Given the description of an element on the screen output the (x, y) to click on. 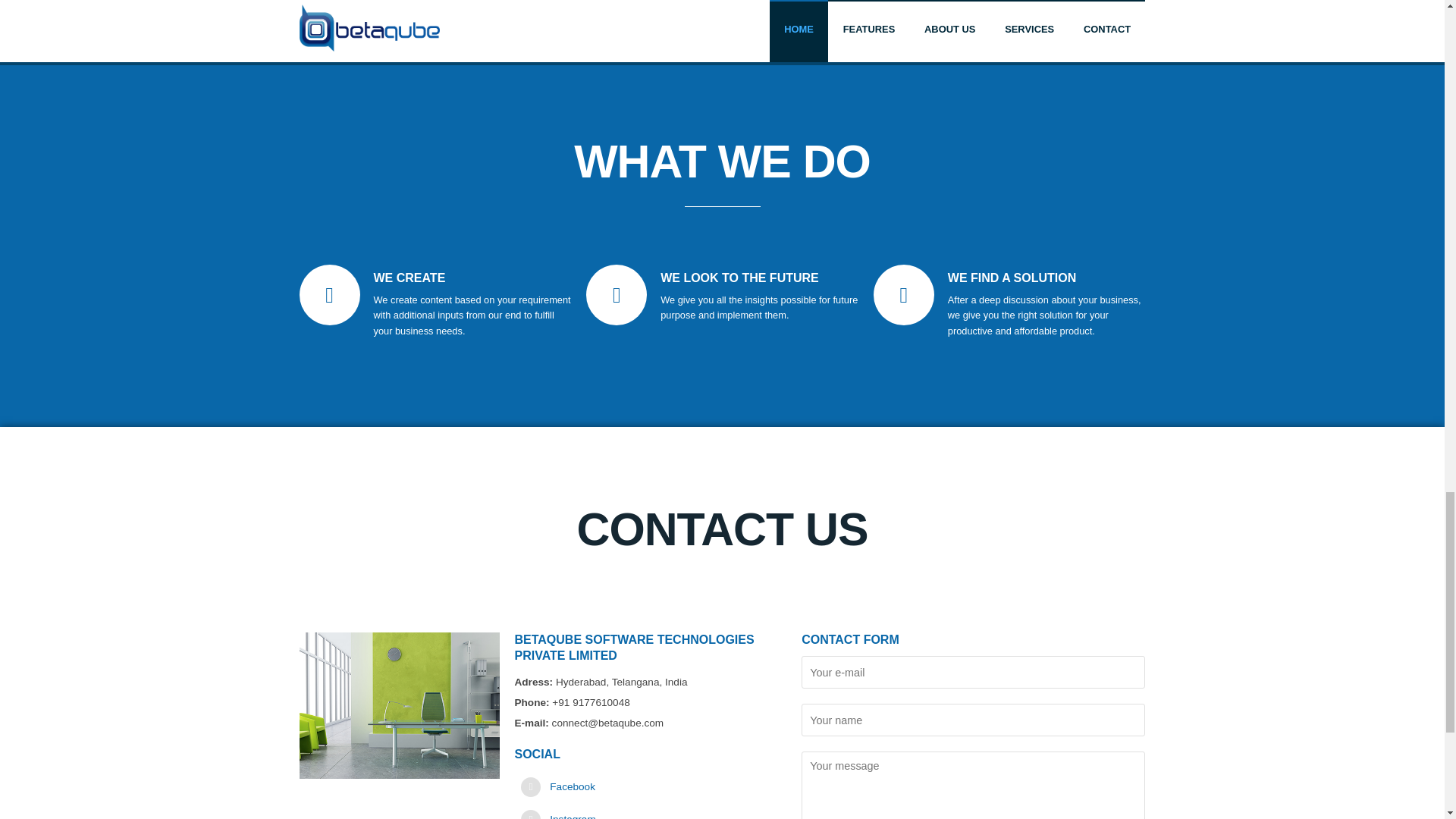
Facebook (572, 786)
Instagram (572, 816)
Your e-mail (973, 672)
Your name (973, 719)
